Given the description of an element on the screen output the (x, y) to click on. 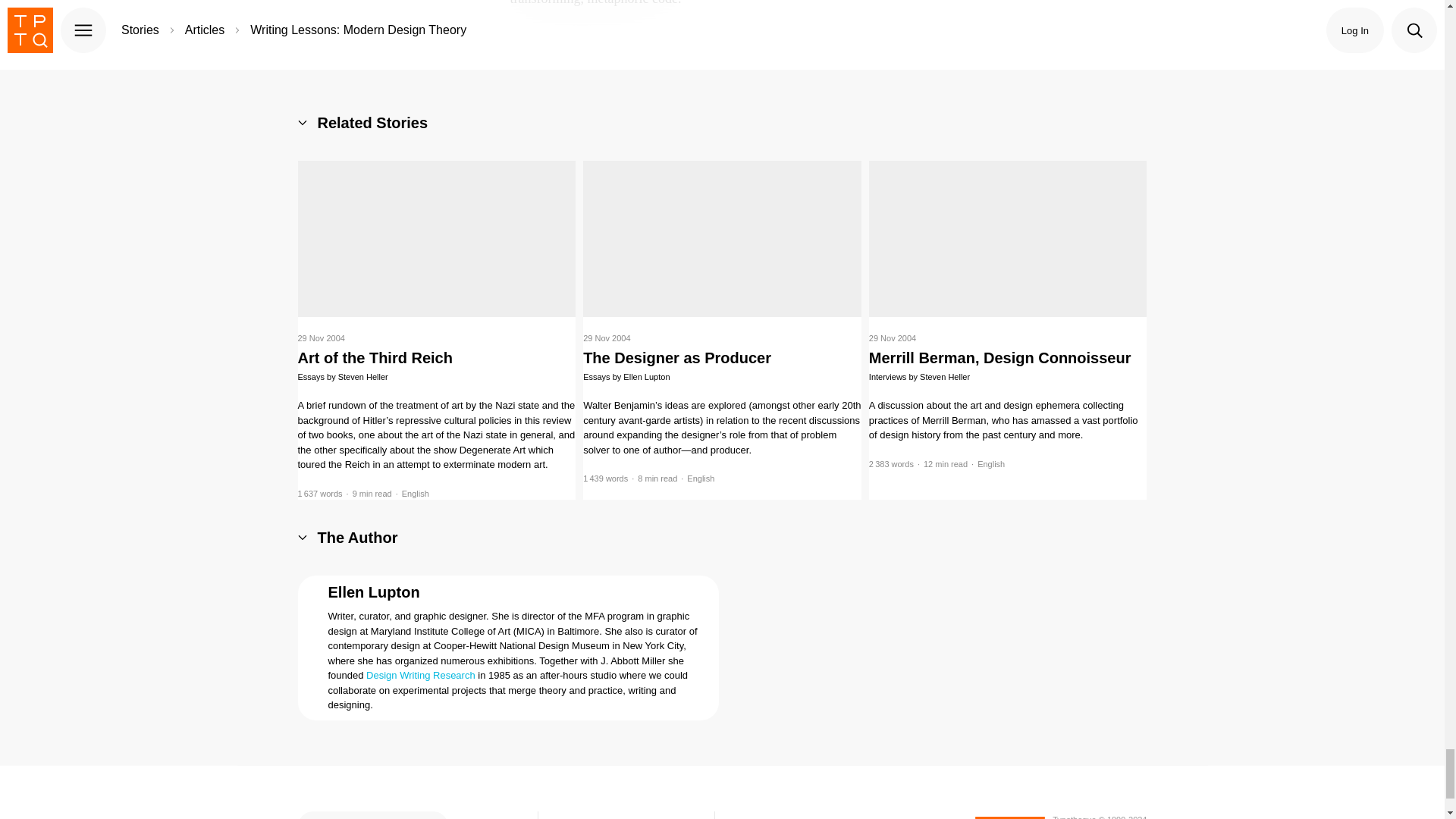
Related Stories (362, 122)
The Author (347, 537)
Ellen Lupton (373, 591)
Join Newsletter (488, 815)
Design Writing Research (421, 674)
